Given the description of an element on the screen output the (x, y) to click on. 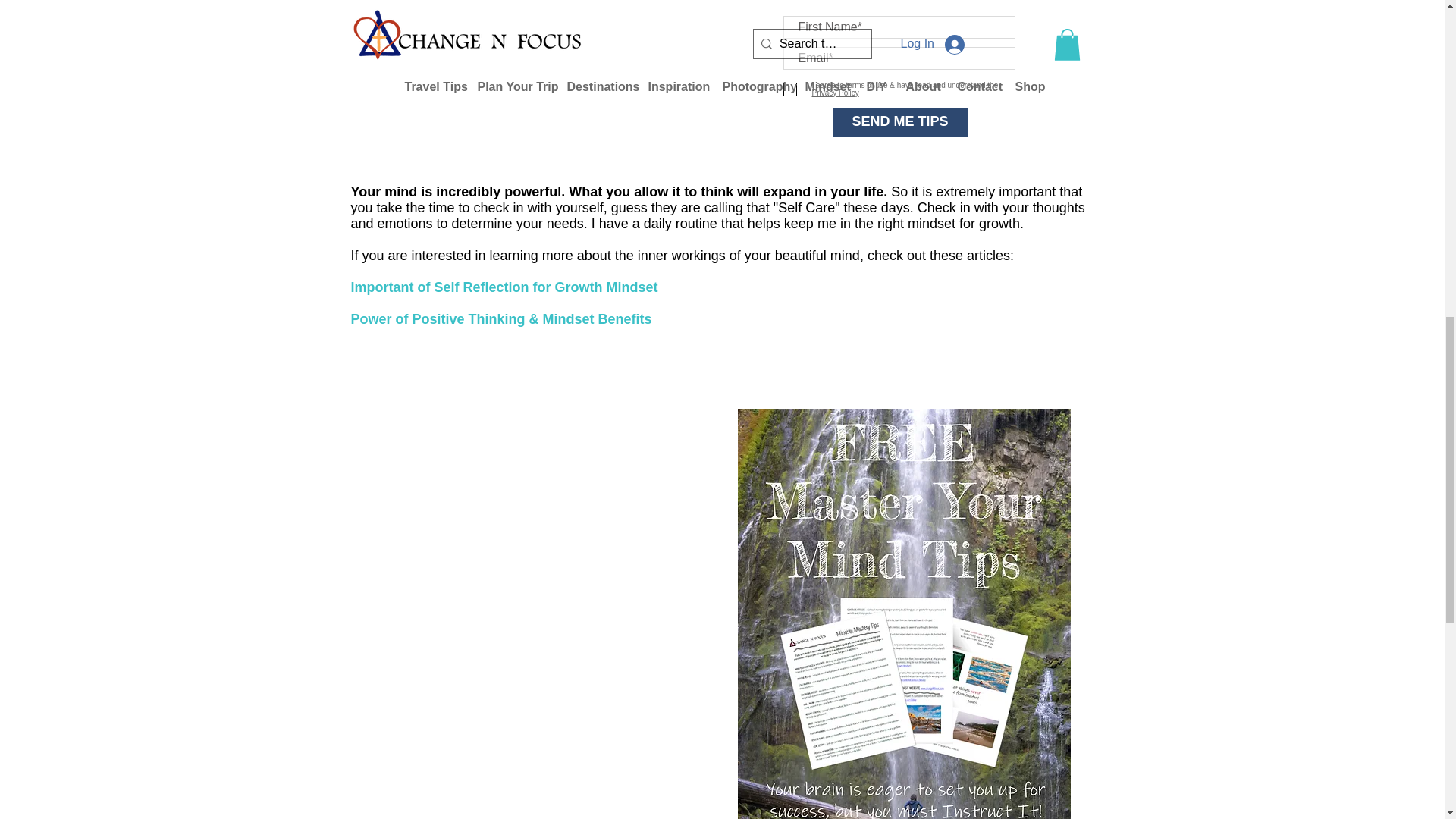
Important of Self Reflection for Growth Mindset (504, 287)
SEND ME TIPS (899, 121)
Privacy Policy (903, 96)
